Given the description of an element on the screen output the (x, y) to click on. 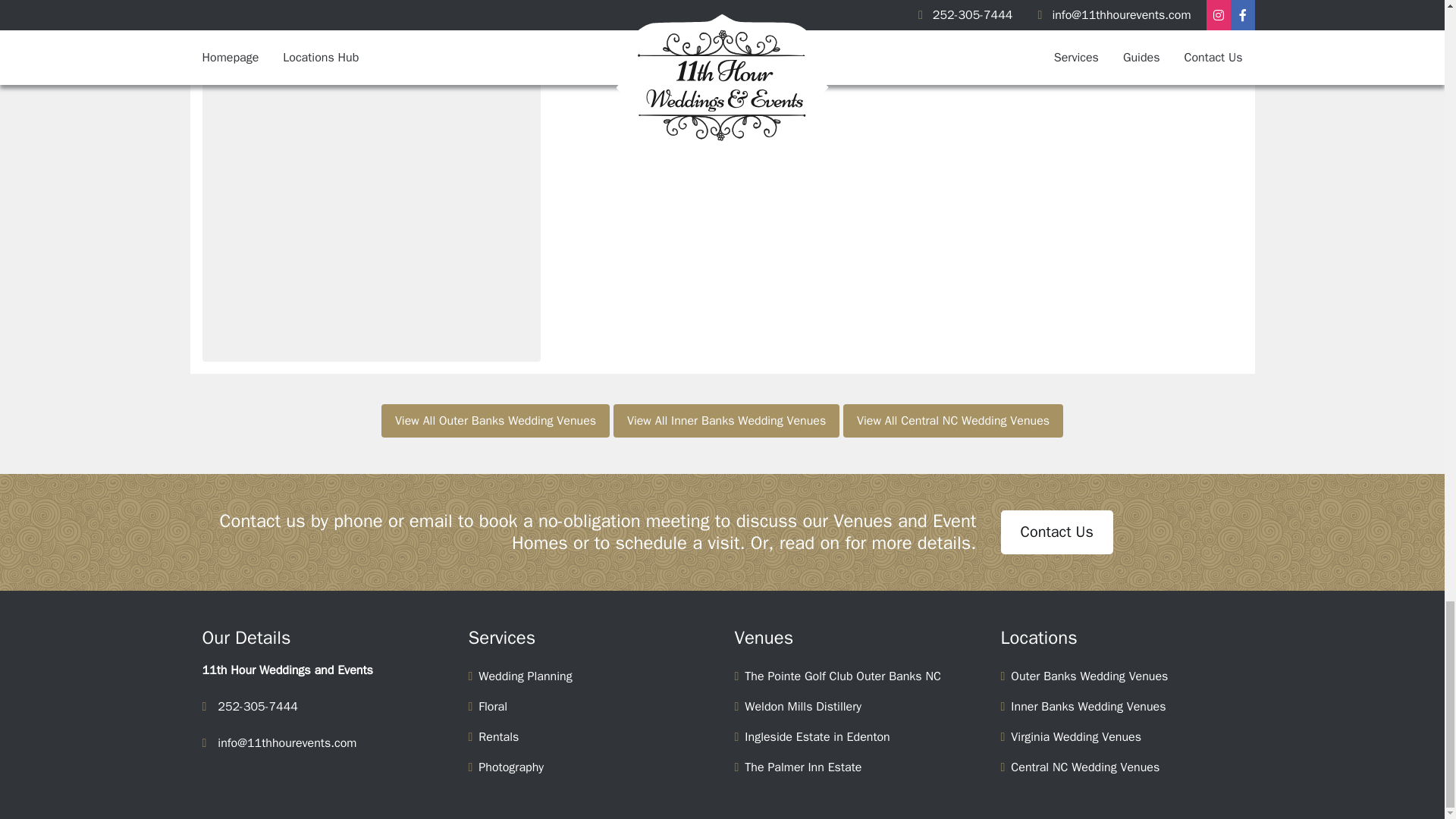
Basnight Event Home (371, 5)
Knot Home (722, 5)
Pine Island Lodge (1073, 5)
Paws and Claws (371, 192)
